Given the description of an element on the screen output the (x, y) to click on. 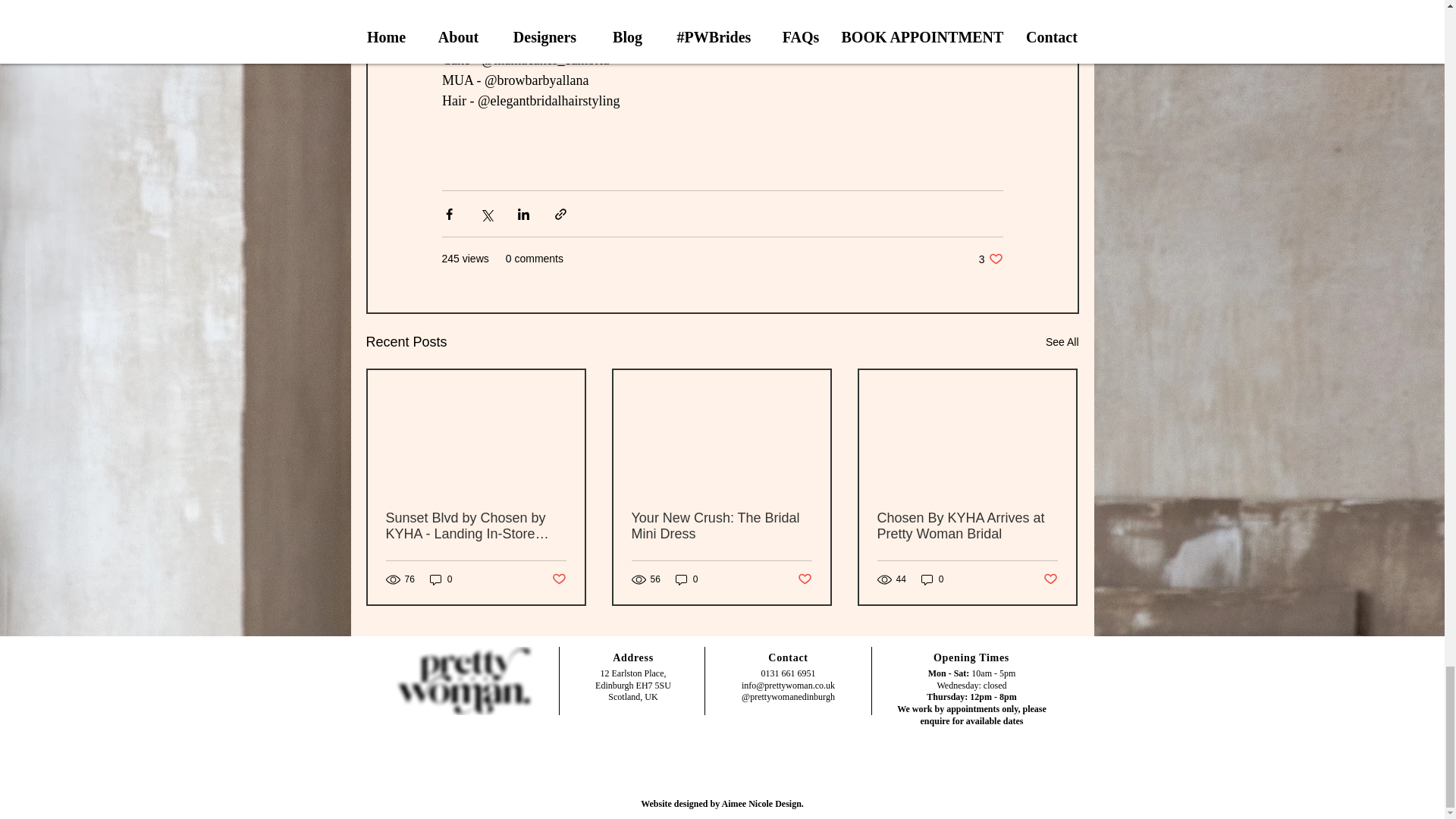
0 (441, 579)
Chosen By KYHA Arrives at Pretty Woman Bridal (966, 526)
moonandbackphotography.co.uk (628, 18)
willowandwilde.co (590, 2)
0 (687, 579)
Sunset Blvd by Chosen by KYHA - Landing In-Store Soon (475, 526)
See All (1061, 341)
Post not marked as liked (558, 579)
Post not marked as liked (804, 579)
Post not marked as liked (1050, 579)
